Given the description of an element on the screen output the (x, y) to click on. 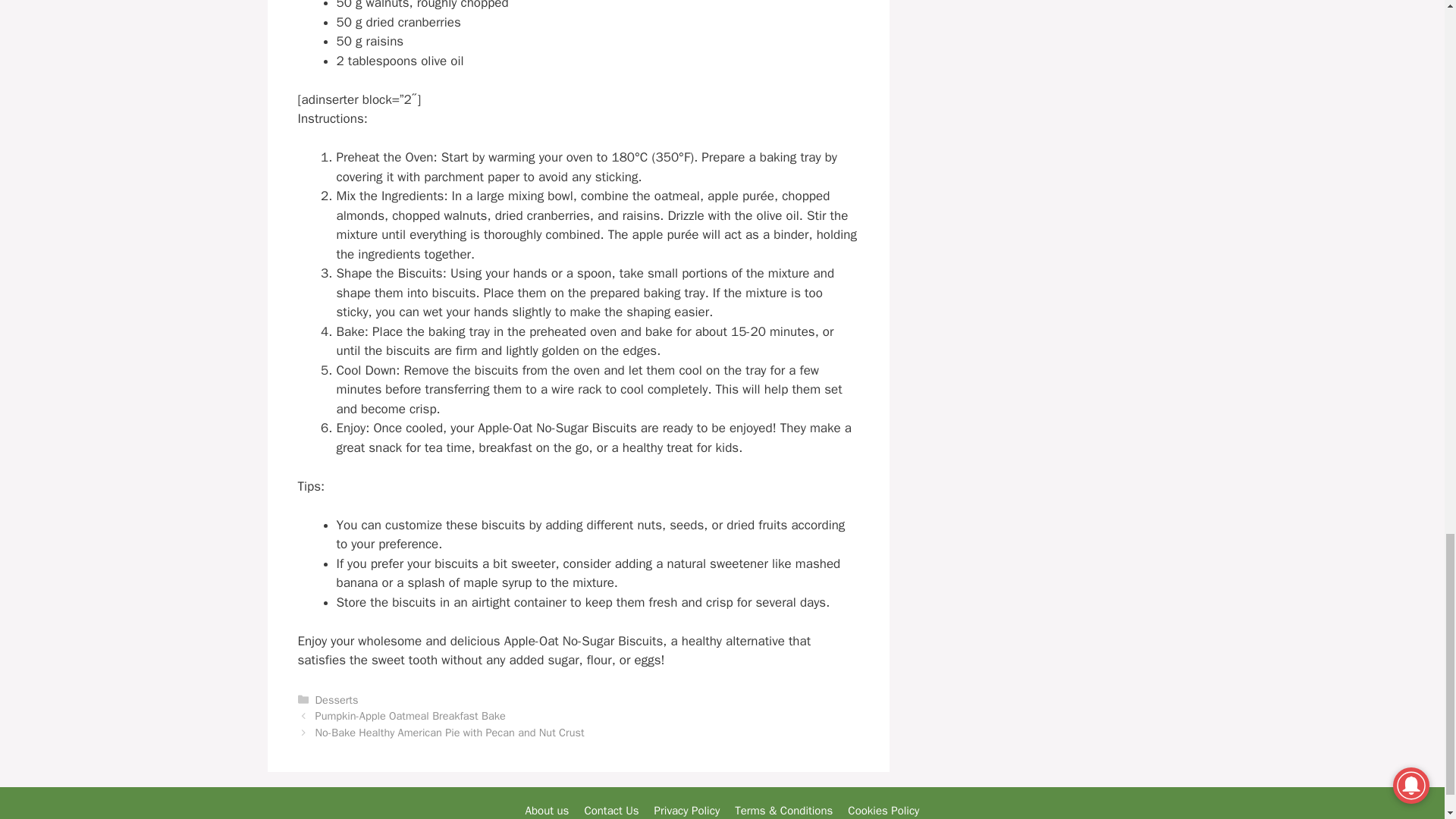
Cookies Policy (882, 810)
Pumpkin-Apple Oatmeal Breakfast Bake (410, 715)
No-Bake Healthy American Pie with Pecan and Nut Crust (450, 732)
About us (547, 810)
Desserts (336, 699)
Privacy Policy (686, 810)
Contact Us (611, 810)
